Given the description of an element on the screen output the (x, y) to click on. 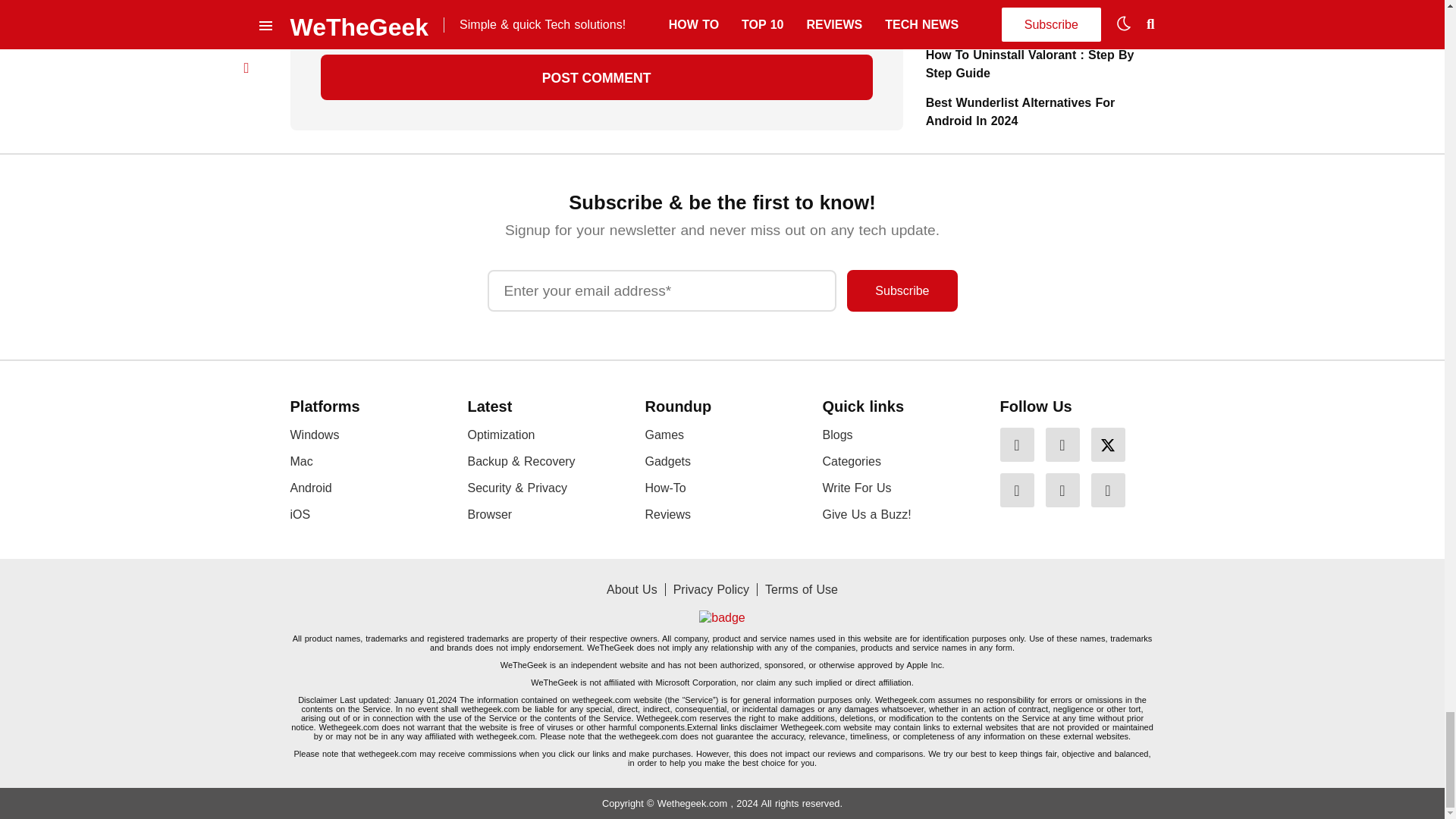
Post Comment (596, 76)
yes (325, 21)
Subscribe (901, 291)
